Given the description of an element on the screen output the (x, y) to click on. 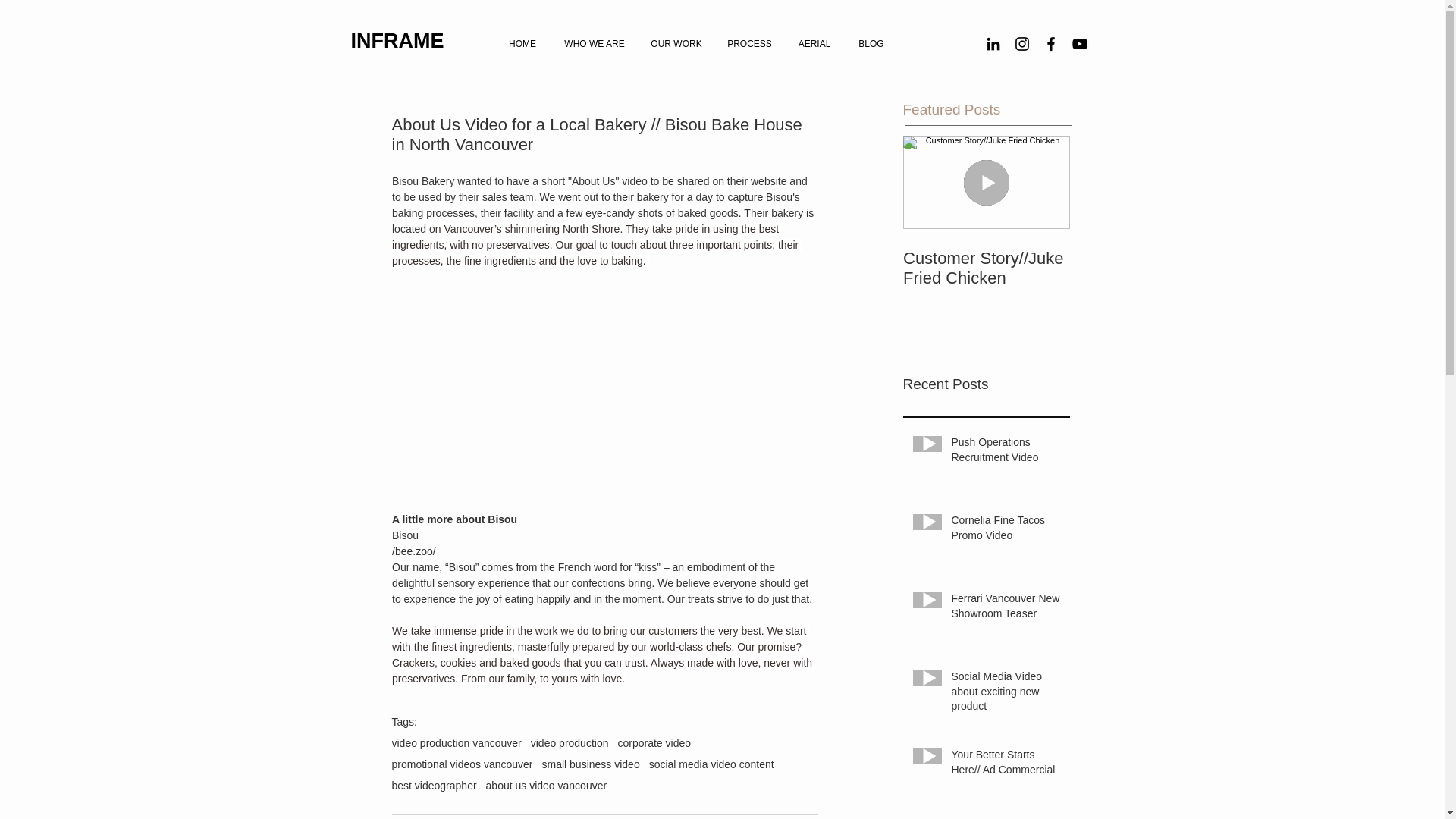
Social Media Video about exciting new product (1004, 694)
video production (569, 743)
Push Operations Recruitment Video (1004, 452)
INFRAME (397, 40)
social media video content (711, 764)
promotional videos vancouver (461, 764)
corporate video (653, 743)
Cornelia Fine Tacos Promo Video (1004, 530)
about us video vancouver (546, 785)
AERIAL (814, 43)
small business video (590, 764)
PROCESS (749, 43)
WHO WE ARE (593, 43)
video production vancouver (456, 743)
OUR WORK (676, 43)
